Given the description of an element on the screen output the (x, y) to click on. 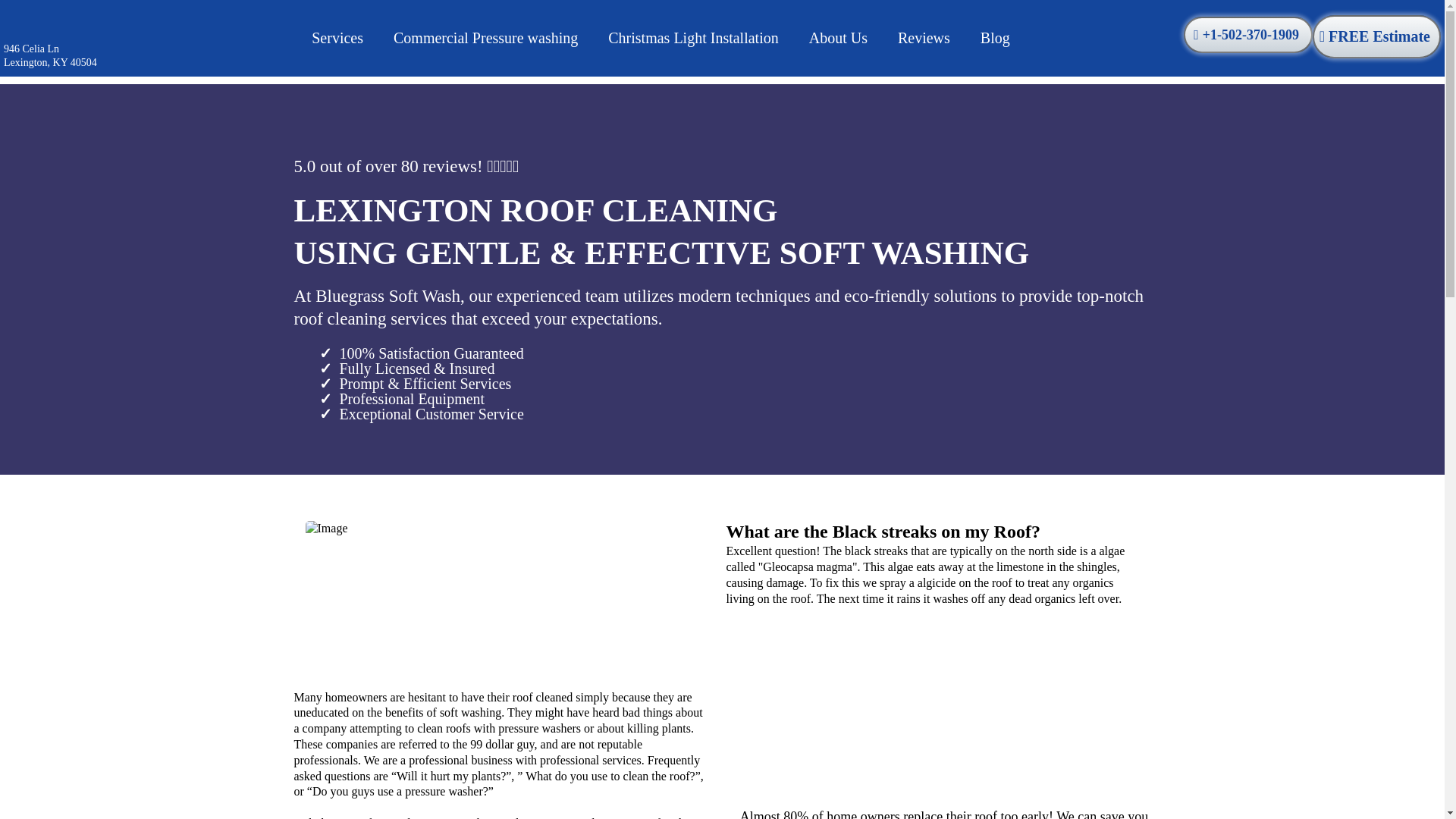
FREE Estimate (1377, 36)
Services (337, 38)
About Us (837, 38)
Commercial Pressure washing (485, 38)
Christmas Light Installation (692, 38)
Reviews (923, 38)
